Given the description of an element on the screen output the (x, y) to click on. 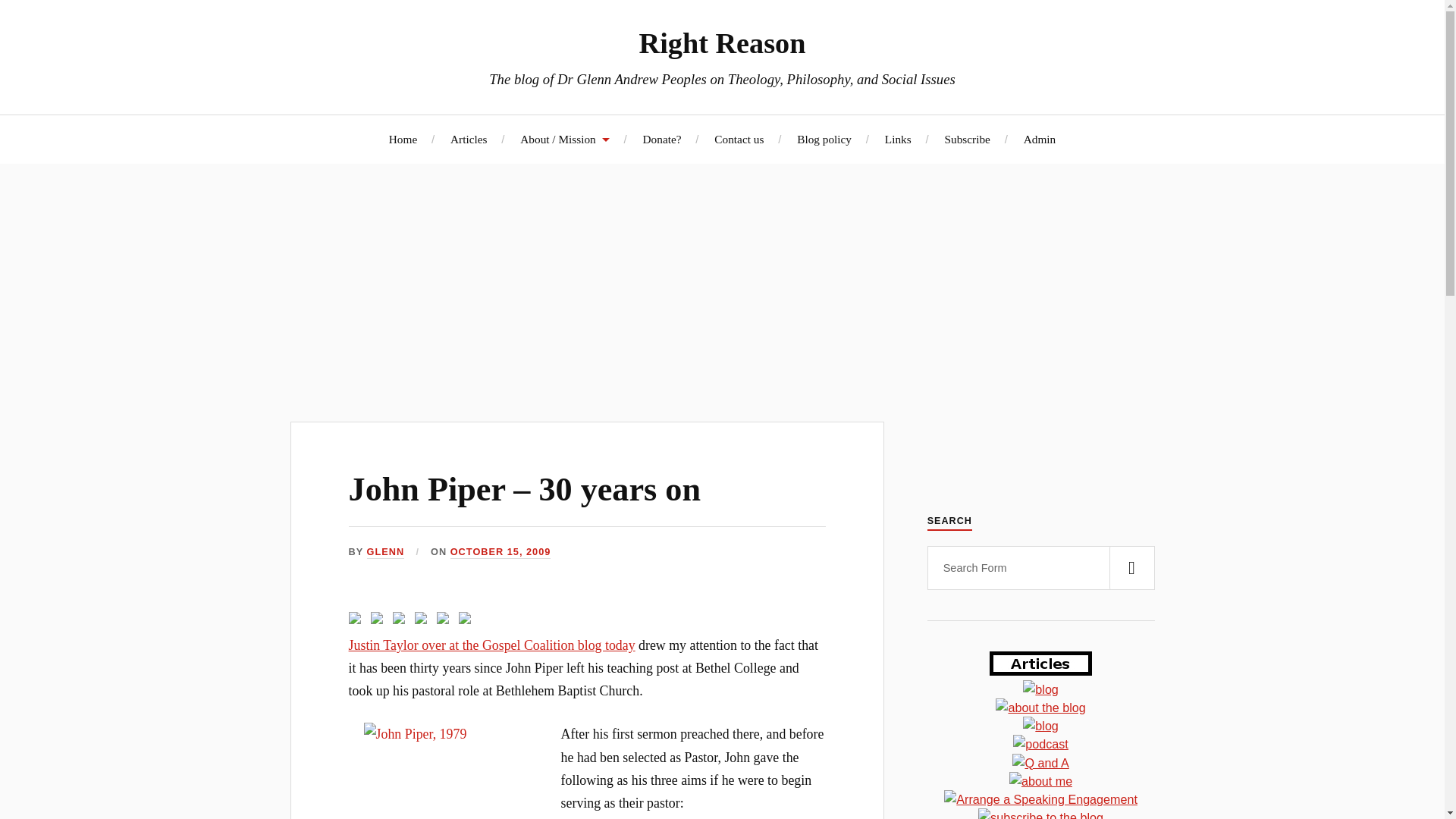
OCTOBER 15, 2009 (500, 552)
Blog policy (823, 138)
Share on Twitter (379, 620)
Share on Facebook (357, 620)
Share on Linkedin (445, 620)
Share by email (464, 617)
Share on Facebook (355, 617)
Share on Twitter (376, 617)
Share on Linkedin (442, 617)
Posts by Glenn (385, 552)
